Given the description of an element on the screen output the (x, y) to click on. 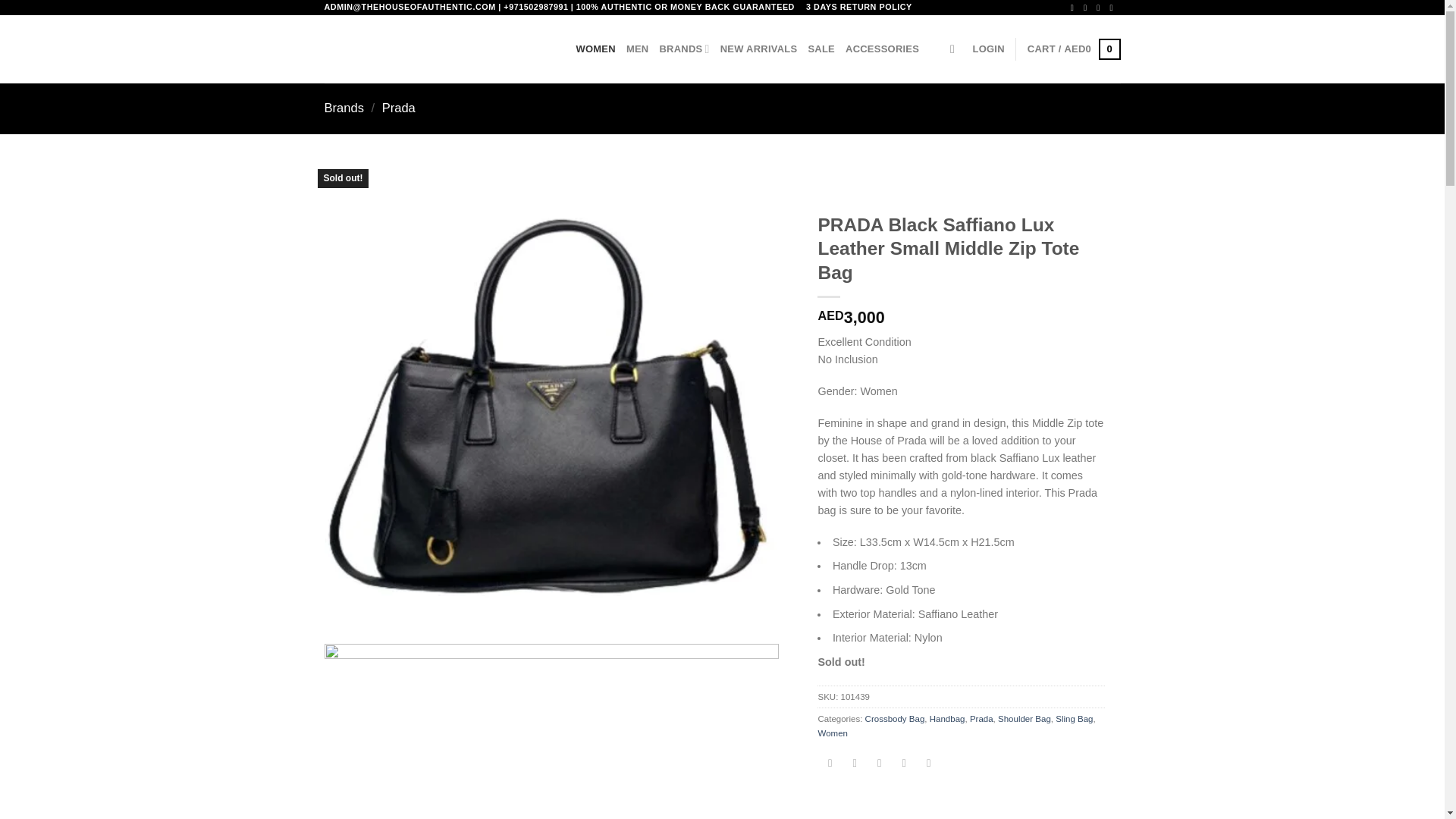
Share on Facebook (829, 763)
BRANDS (684, 48)
Prada (397, 107)
Brands (344, 107)
Follow on Facebook (1074, 7)
Follow on TikTok (1100, 7)
Share on Twitter (854, 763)
ACCESSORIES (881, 49)
Email to a Friend (879, 763)
Cart (1074, 48)
Send us an email (1113, 7)
NEW ARRIVALS (758, 49)
WOMEN (595, 49)
Share on LinkedIn (928, 763)
Follow on Instagram (1087, 7)
